Given the description of an element on the screen output the (x, y) to click on. 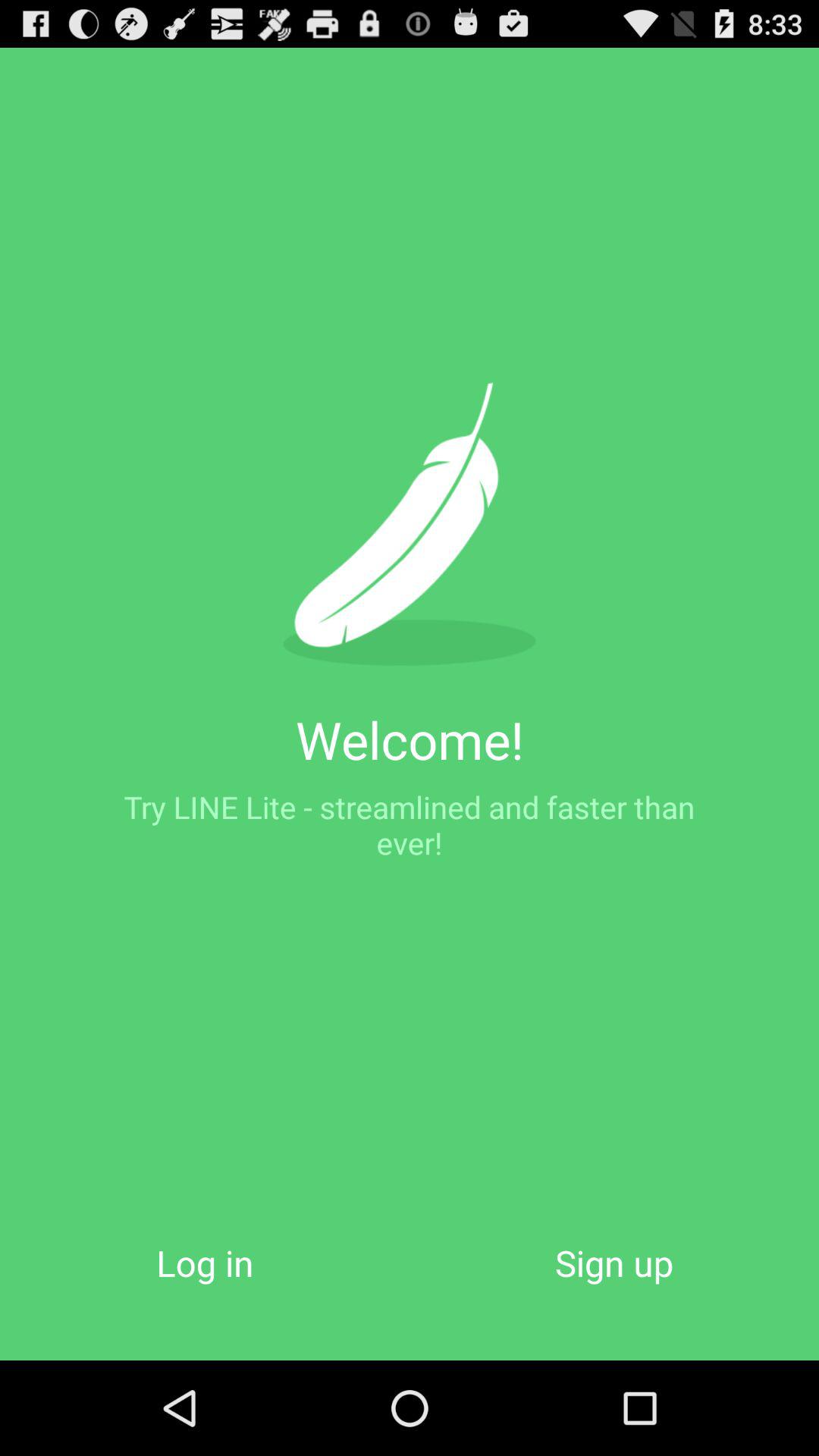
open the sign up icon (614, 1262)
